Given the description of an element on the screen output the (x, y) to click on. 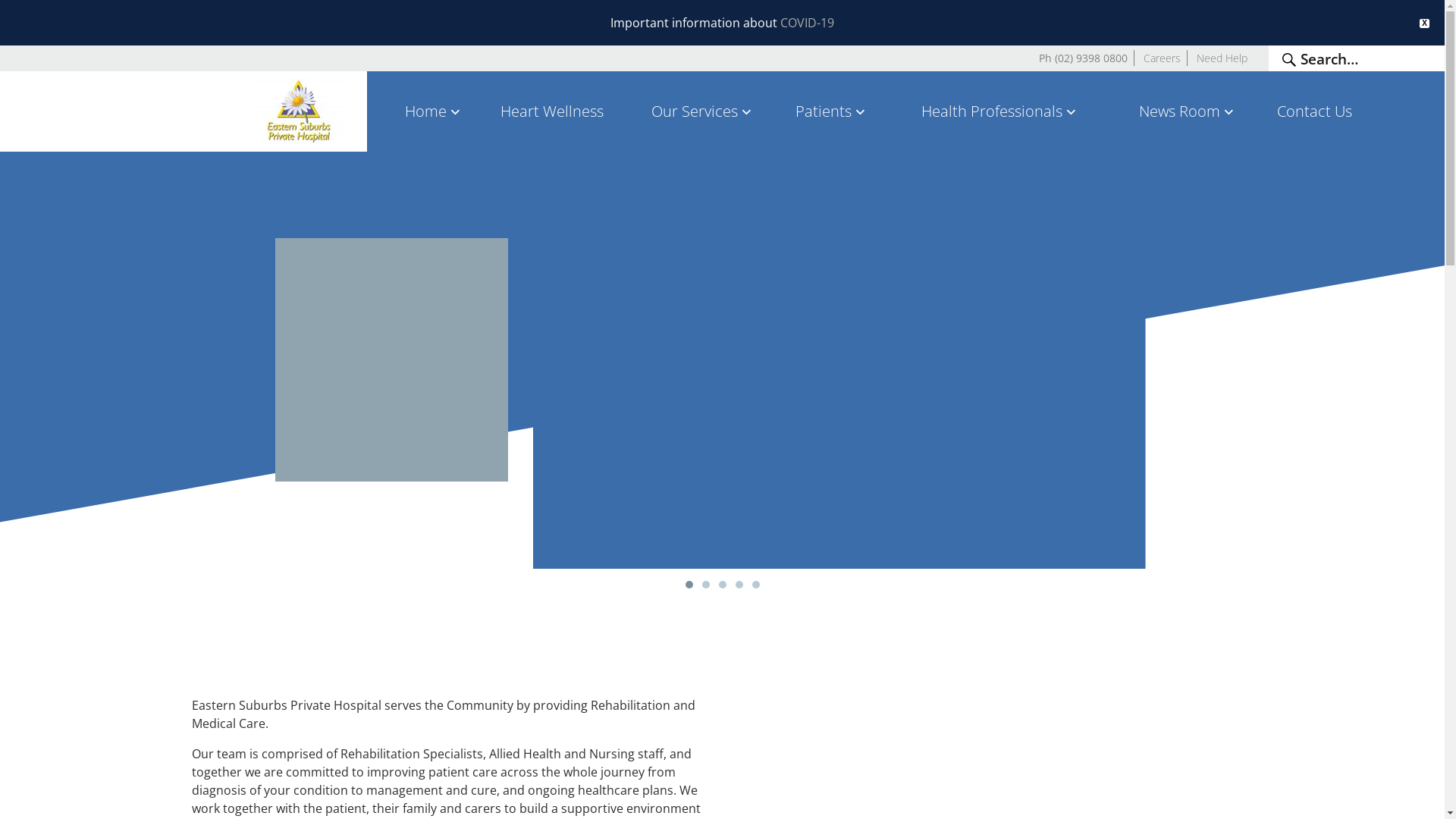
Patients Element type: text (831, 111)
Heart Wellness Element type: text (551, 111)
News Room Element type: text (1187, 111)
Health Professionals Element type: text (1000, 111)
Need Help Element type: text (1221, 57)
Contact Us Element type: text (1314, 111)
Ph (02) 9398 0800 Element type: text (1082, 57)
Our Services Element type: text (702, 111)
COVID-19 Element type: text (807, 22)
Home Element type: text (433, 111)
Careers Element type: text (1161, 57)
